Given the description of an element on the screen output the (x, y) to click on. 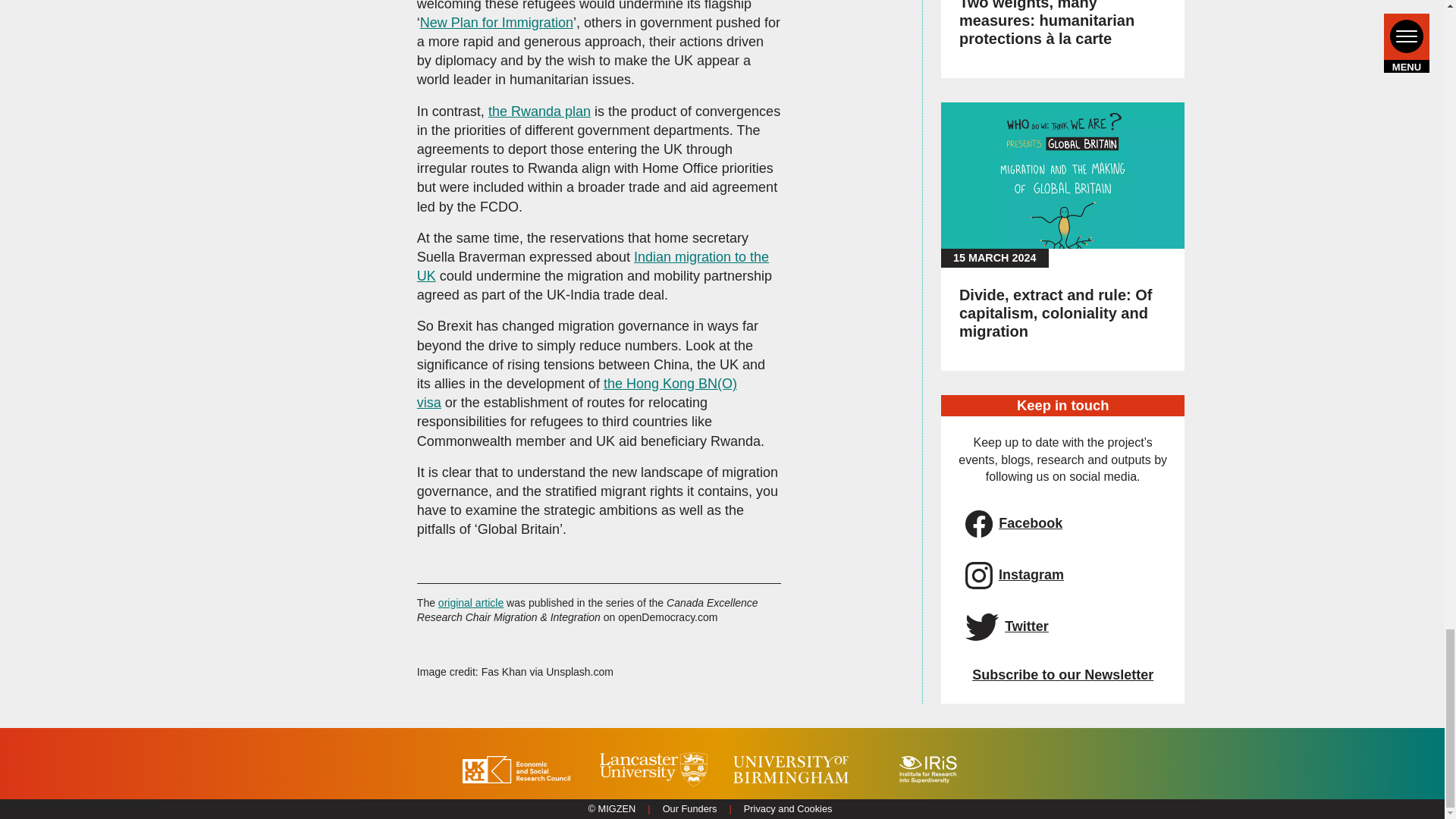
Privacy and Cookies (788, 808)
original article (470, 603)
Indian migration to the UK (592, 266)
the Rwanda plan (539, 111)
Our Funders (689, 808)
New Plan for Immigration (496, 22)
